Given the description of an element on the screen output the (x, y) to click on. 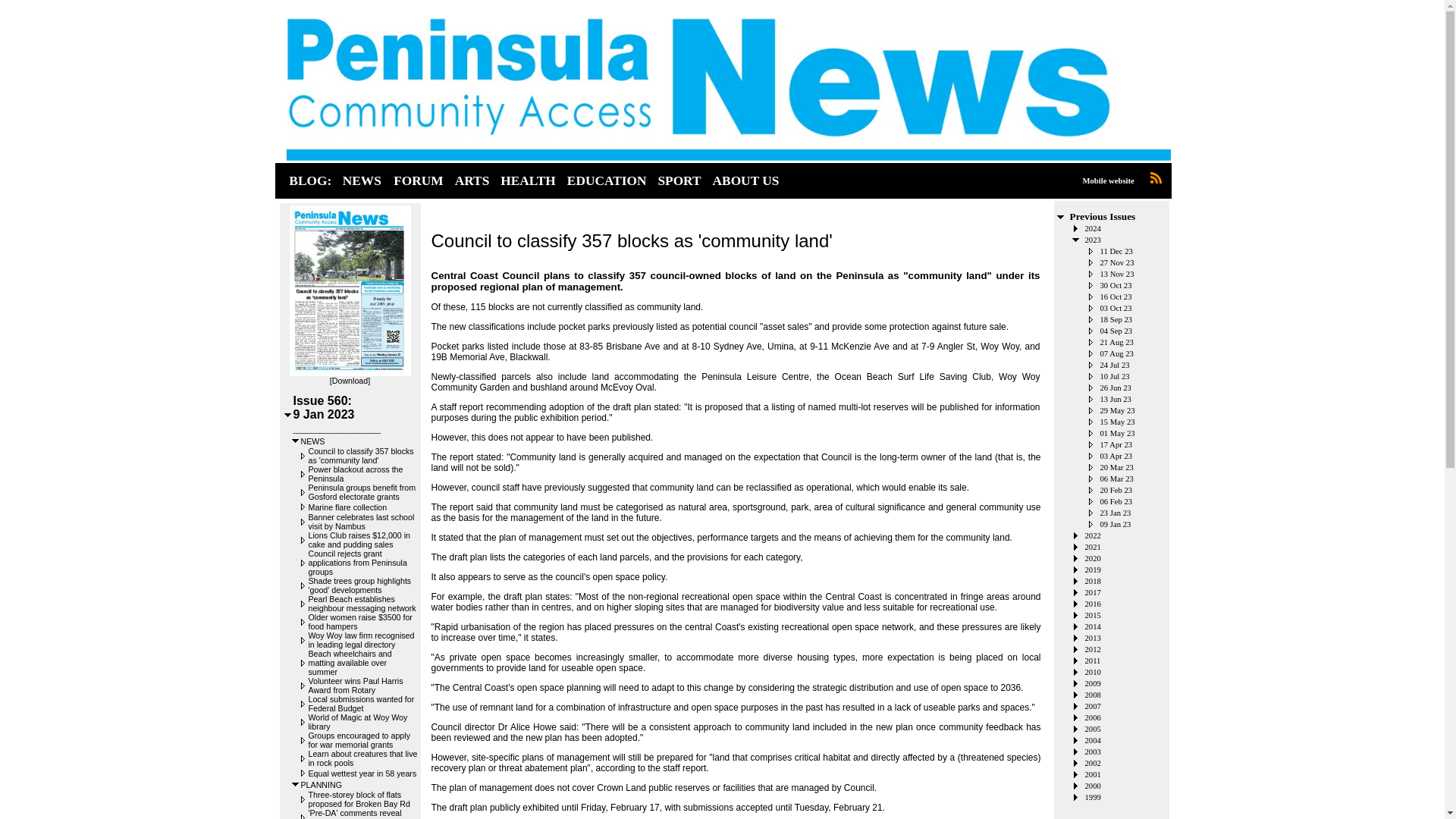
Volunteer wins Paul Harris Award from Rotary (355, 685)
Mobile website (1107, 180)
ARTS (472, 180)
EDUCATION (606, 180)
Local submissions wanted for Federal Budget (360, 703)
NEWS (361, 180)
Banner celebrates last school visit by Nambus (360, 521)
'Pre-DA' comments reveal council staff thinking (354, 813)
Groups encouraged to apply for war memorial grants (358, 740)
Collapse  NEWS  (295, 440)
Marine flare collection (347, 506)
Pearl Beach establishes neighbour messaging network (360, 603)
ABOUT US (745, 180)
Council rejects grant applications from Peninsula groups (356, 562)
Three-storey block of flats proposed for Broken Bay Rd (358, 799)
